Given the description of an element on the screen output the (x, y) to click on. 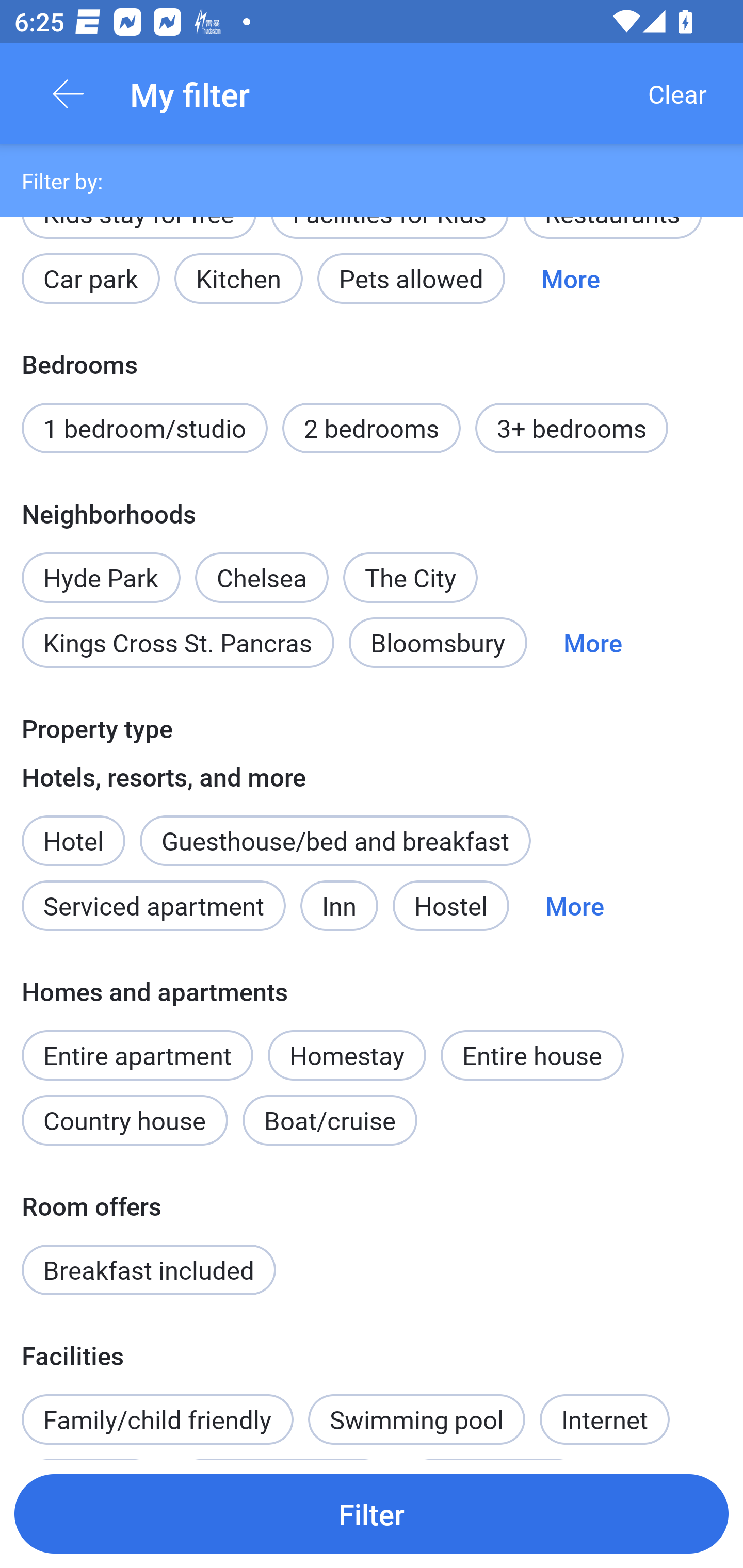
Clear (676, 93)
Car park (90, 278)
Kitchen (238, 278)
Pets allowed (411, 278)
More (570, 278)
1 bedroom/studio (144, 427)
2 bedrooms (371, 427)
3+ bedrooms (571, 427)
Hyde Park (100, 566)
Chelsea (261, 566)
The City (410, 577)
Kings Cross St. Pancras (177, 642)
Bloomsbury (437, 642)
More (592, 642)
Hotel (73, 830)
Guesthouse/bed and breakfast (335, 841)
Serviced apartment (153, 905)
Inn (339, 905)
Hostel (450, 905)
More (574, 905)
Entire apartment (137, 1055)
Homestay (346, 1055)
Entire house (532, 1055)
Country house (124, 1120)
Boat/cruise (329, 1120)
Breakfast included (148, 1269)
Family/child friendly (157, 1417)
Swimming pool (416, 1417)
Internet (604, 1417)
Filter (371, 1513)
